Given the description of an element on the screen output the (x, y) to click on. 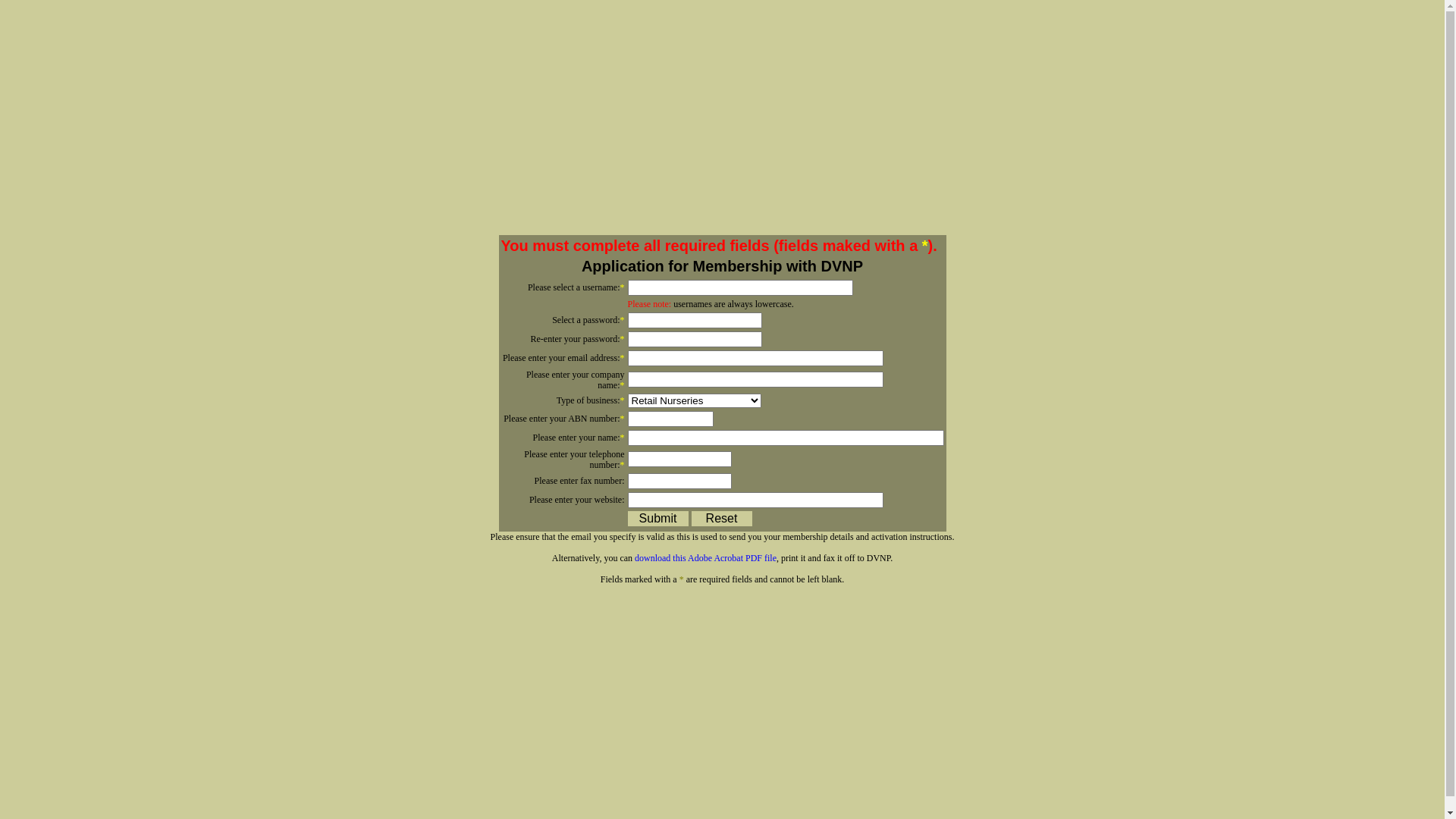
download this Adobe Acrobat PDF file Element type: text (705, 557)
